Given the description of an element on the screen output the (x, y) to click on. 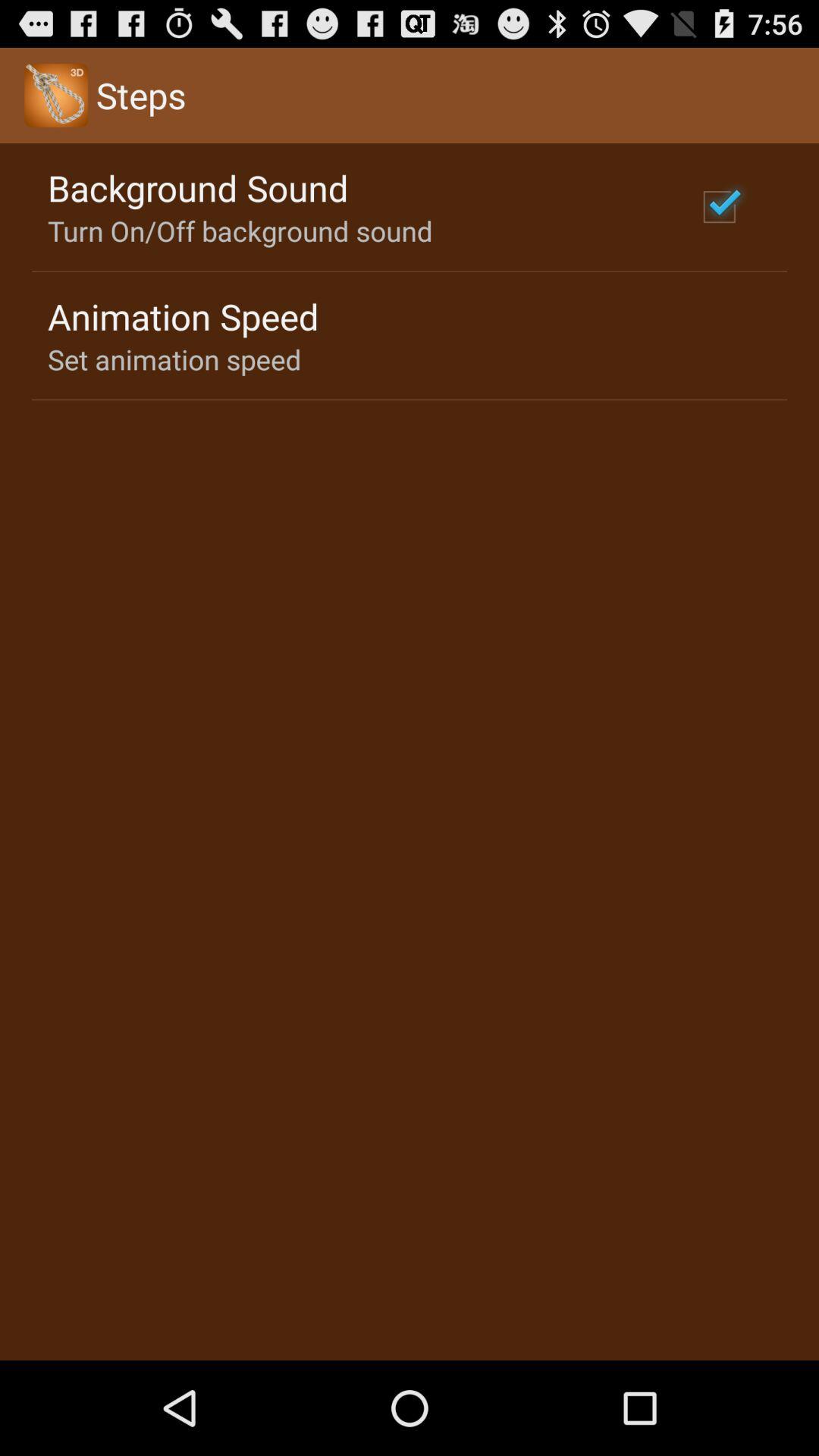
choose the turn on off item (239, 230)
